Given the description of an element on the screen output the (x, y) to click on. 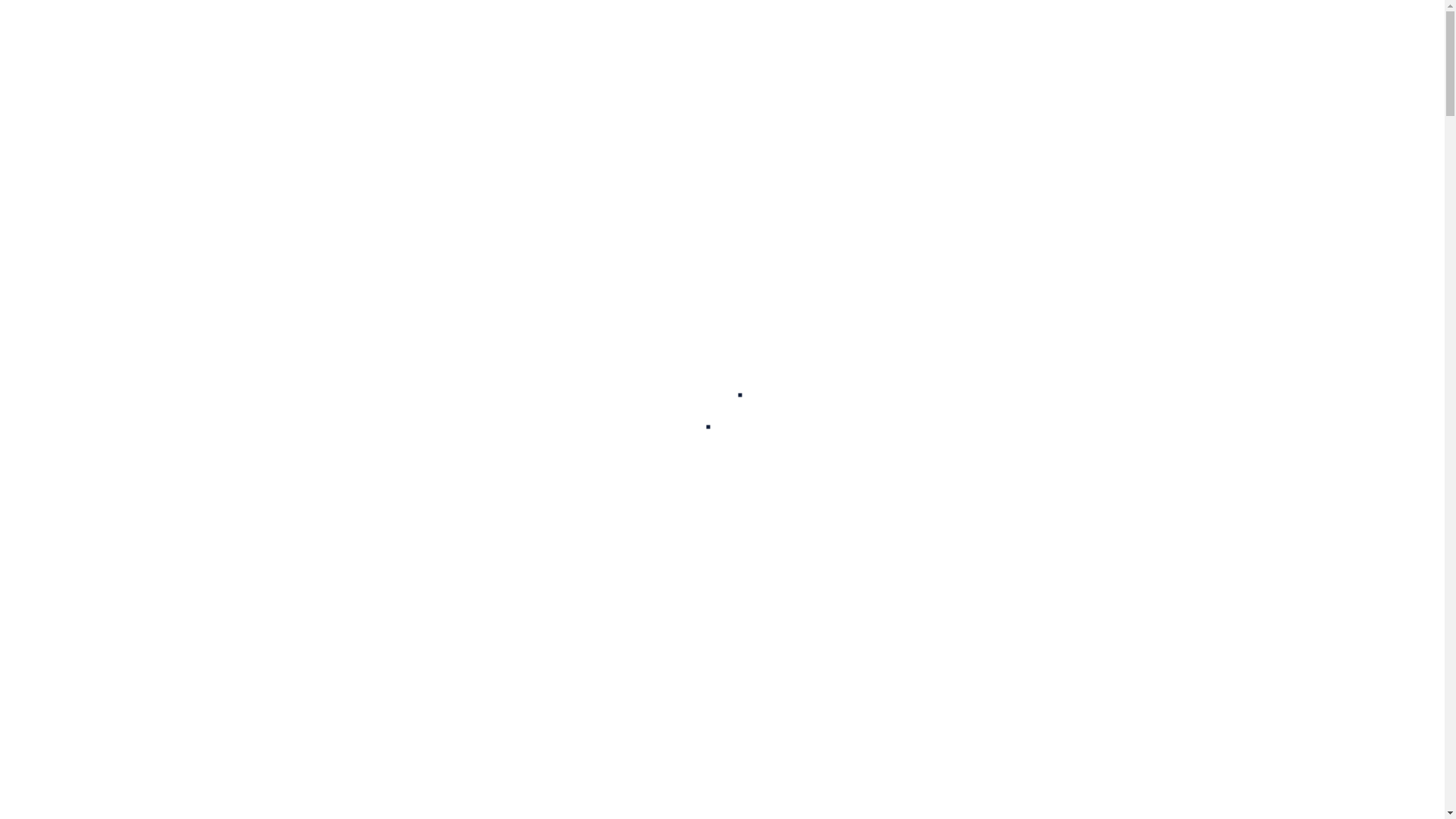
Assurance Element type: text (31, 807)
TEAM Element type: text (596, 48)
SERVICES Element type: text (509, 48)
FAQ Element type: text (747, 48)
BLOG Element type: text (672, 48)
Our Services Element type: text (37, 185)
Taxation Element type: text (25, 785)
CLIENTS Element type: text (826, 48)
CONTACT US Element type: text (926, 48)
